Given the description of an element on the screen output the (x, y) to click on. 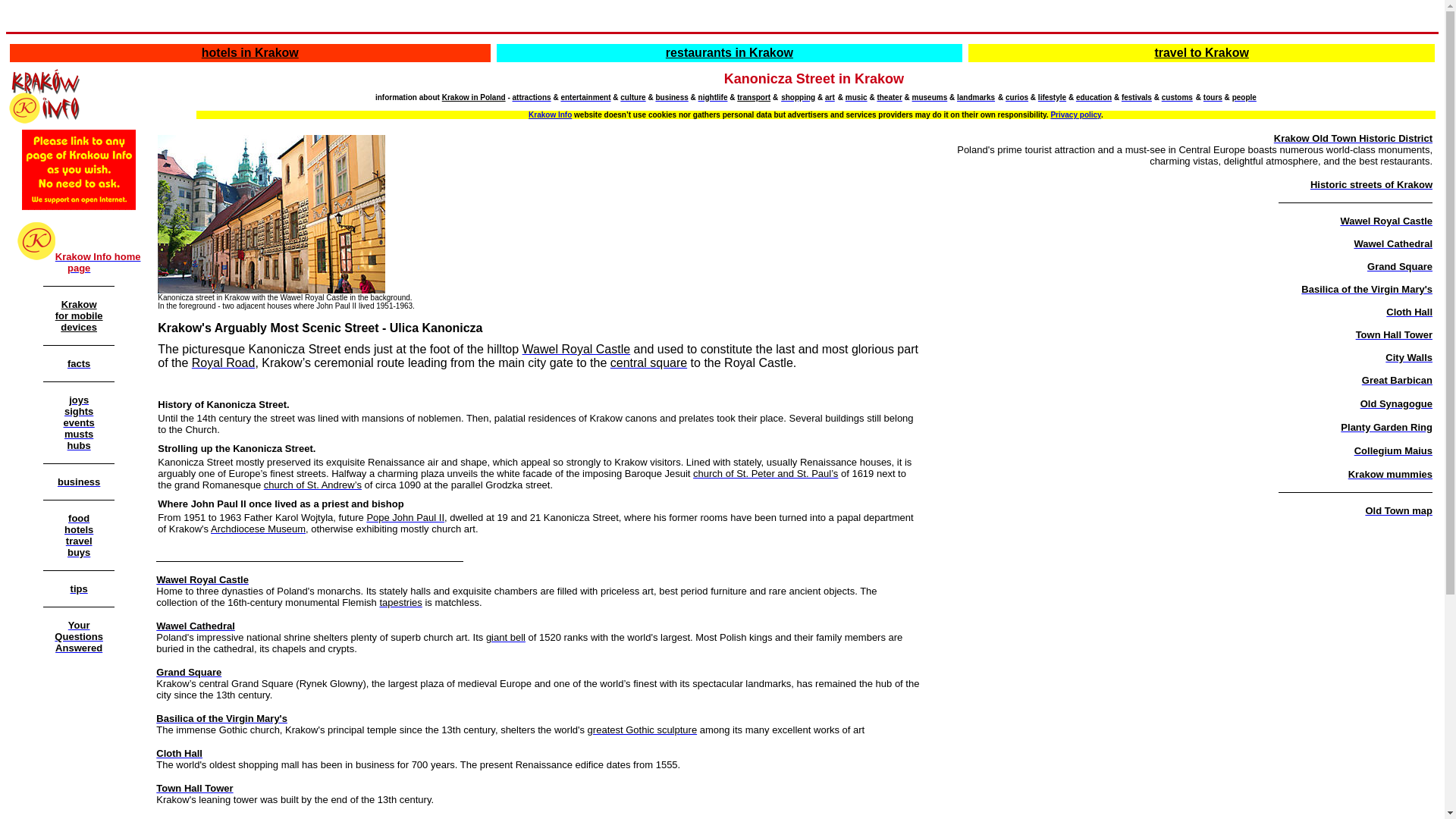
people (1243, 95)
shopping (797, 95)
theater (888, 95)
facts (78, 362)
tours (1213, 95)
education (1093, 95)
food (78, 517)
business (79, 481)
Privacy policy (1074, 114)
hubs (78, 444)
curios (1016, 95)
hotels (78, 528)
customs (1176, 95)
festivals (79, 315)
